Given the description of an element on the screen output the (x, y) to click on. 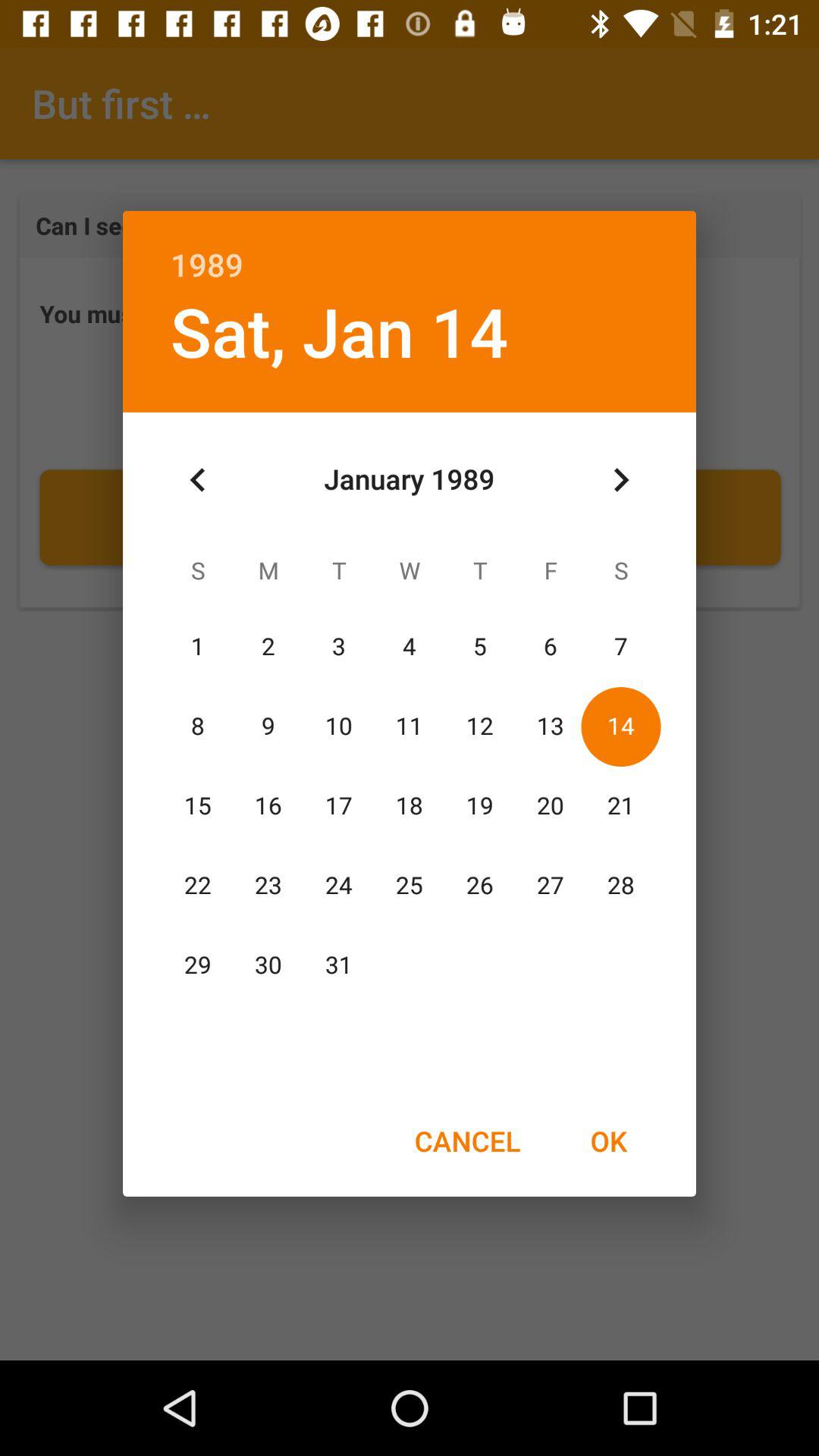
turn off icon above sat, jan 14 (409, 248)
